Given the description of an element on the screen output the (x, y) to click on. 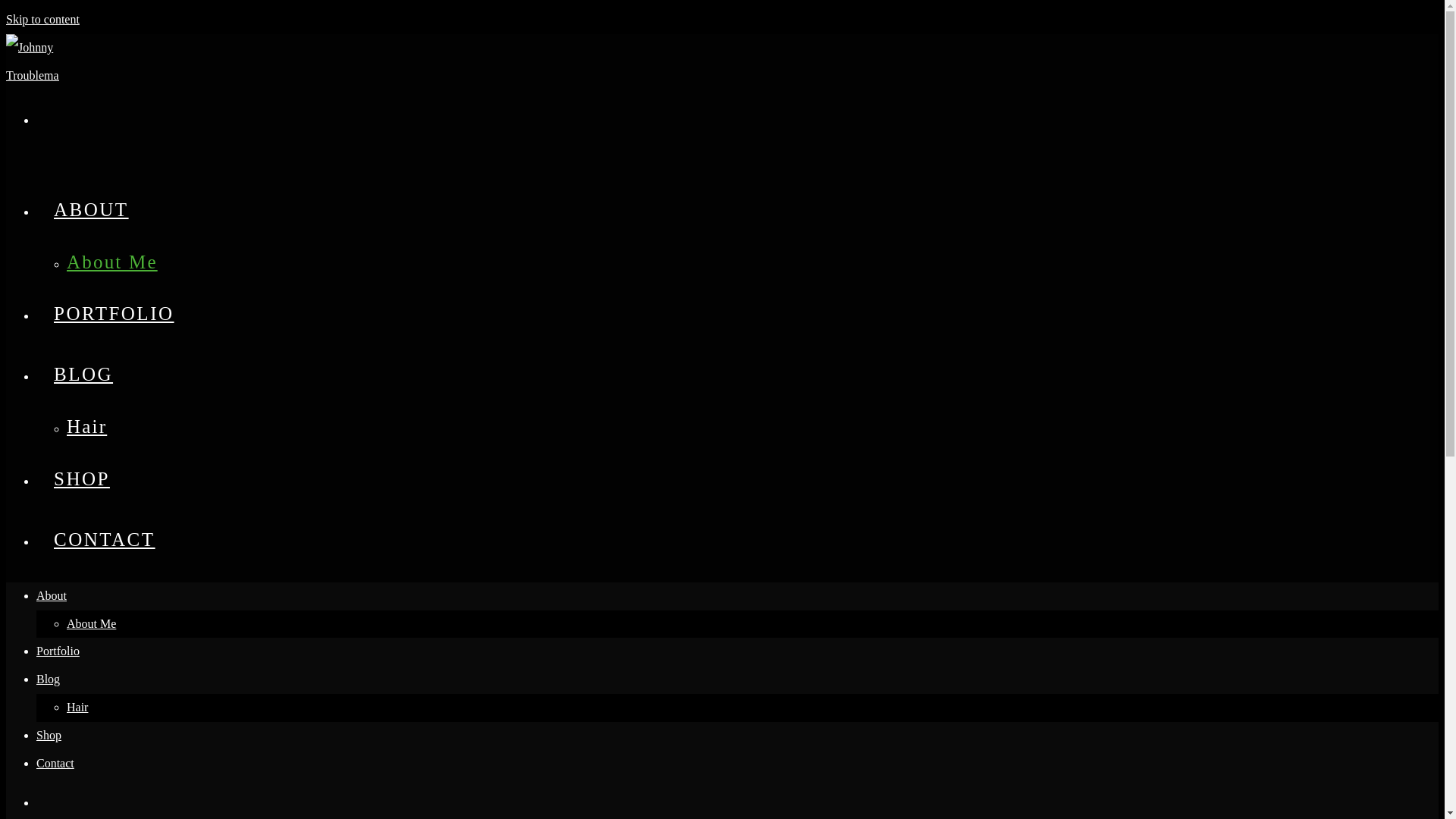
About (51, 594)
Blog (47, 678)
Shop (48, 735)
Contact (55, 762)
About Me (111, 261)
BLOG (83, 373)
About Me (91, 623)
PORTFOLIO (114, 313)
ABOUT (91, 209)
Hair (76, 707)
Hair (86, 426)
Portfolio (58, 650)
SHOP (82, 478)
CONTACT (104, 539)
Skip to content (42, 19)
